Given the description of an element on the screen output the (x, y) to click on. 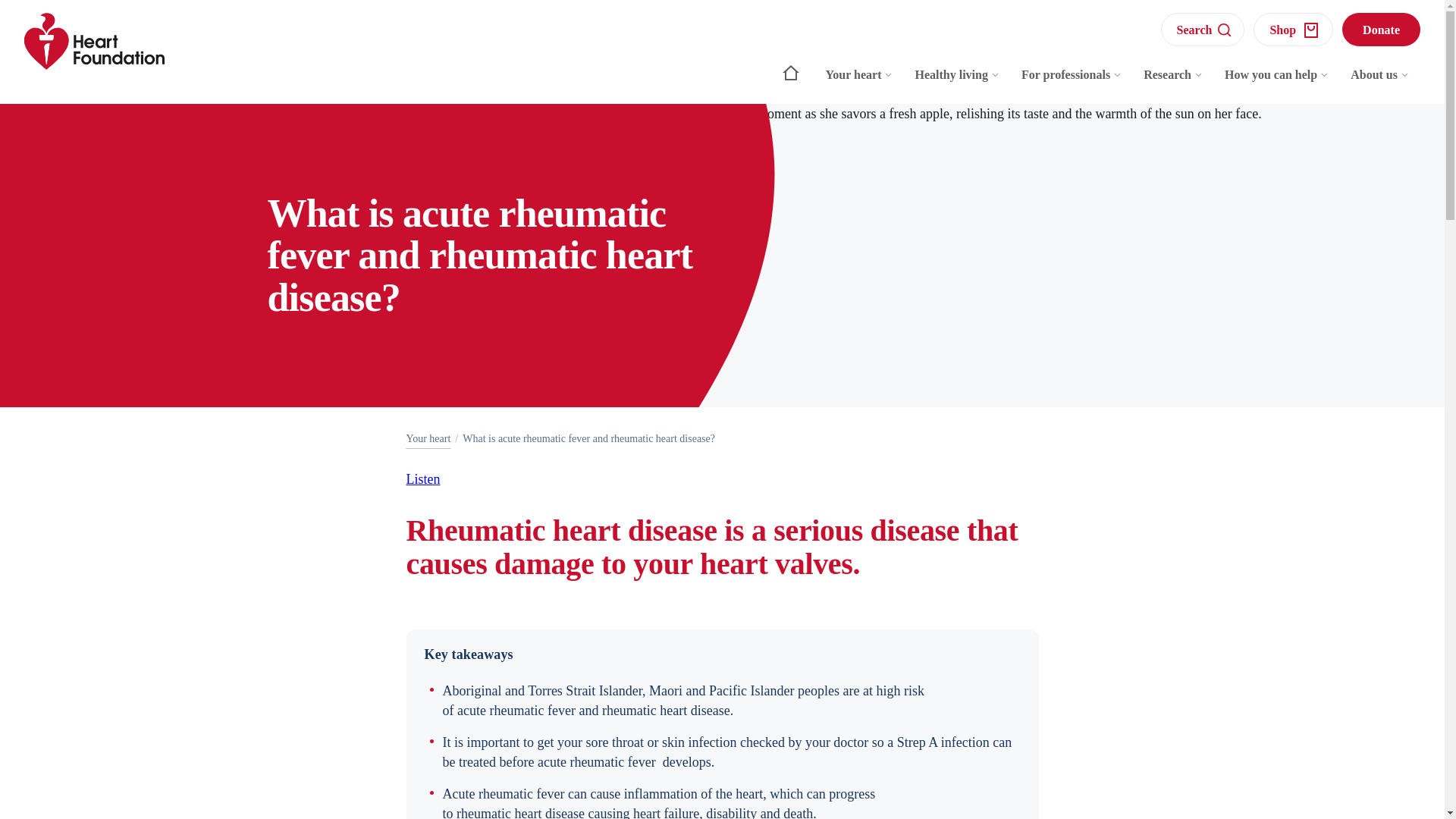
Listen (423, 478)
Your heart (428, 438)
For professionals (1071, 81)
Search (1202, 29)
Healthy living (957, 81)
About us (1380, 81)
Donate (1381, 29)
Shop (1293, 29)
How you can help (1276, 81)
Listen to this page using ReadSpeaker webReader (423, 478)
